Given the description of an element on the screen output the (x, y) to click on. 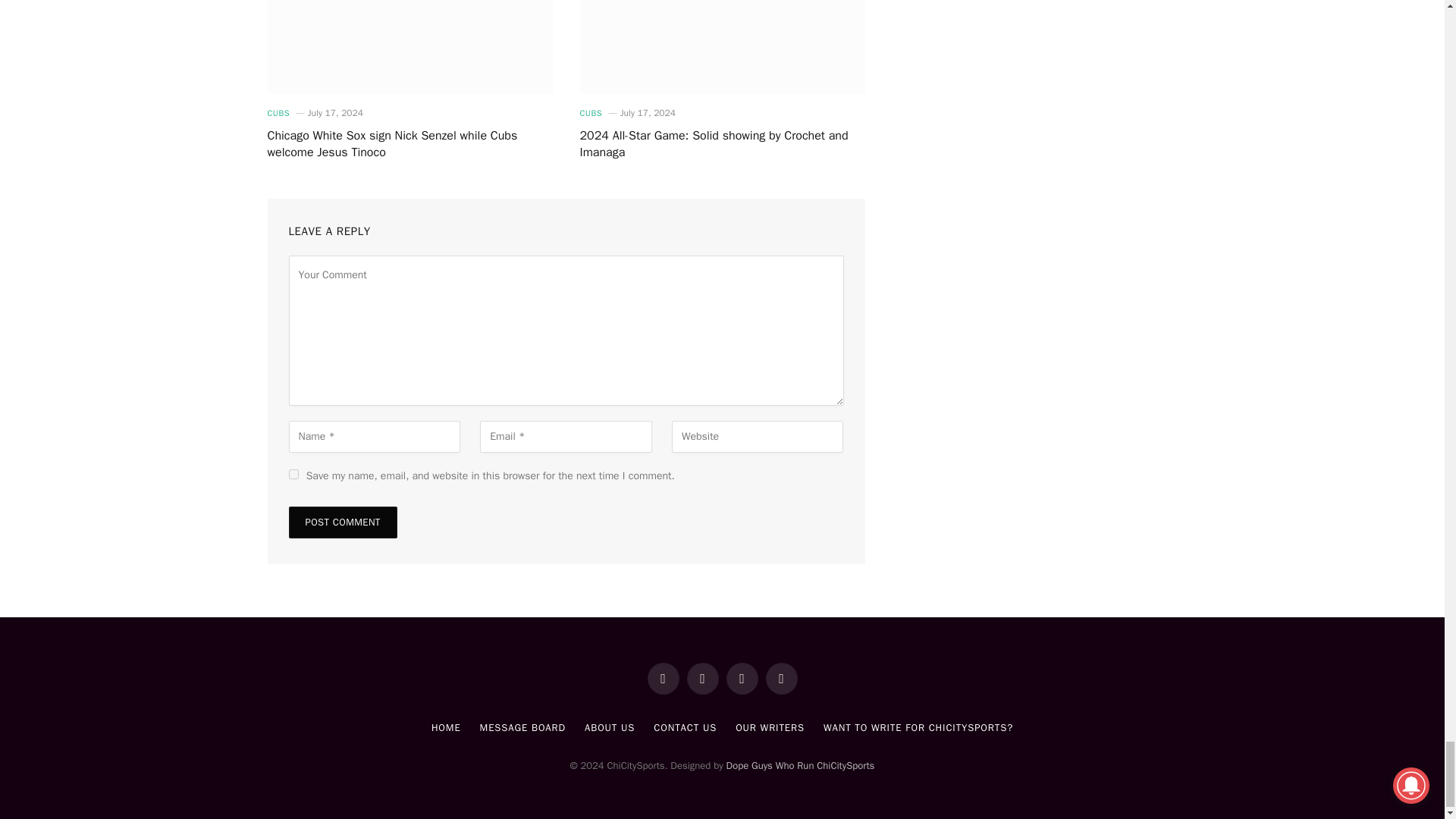
Post Comment (342, 522)
yes (293, 474)
